Given the description of an element on the screen output the (x, y) to click on. 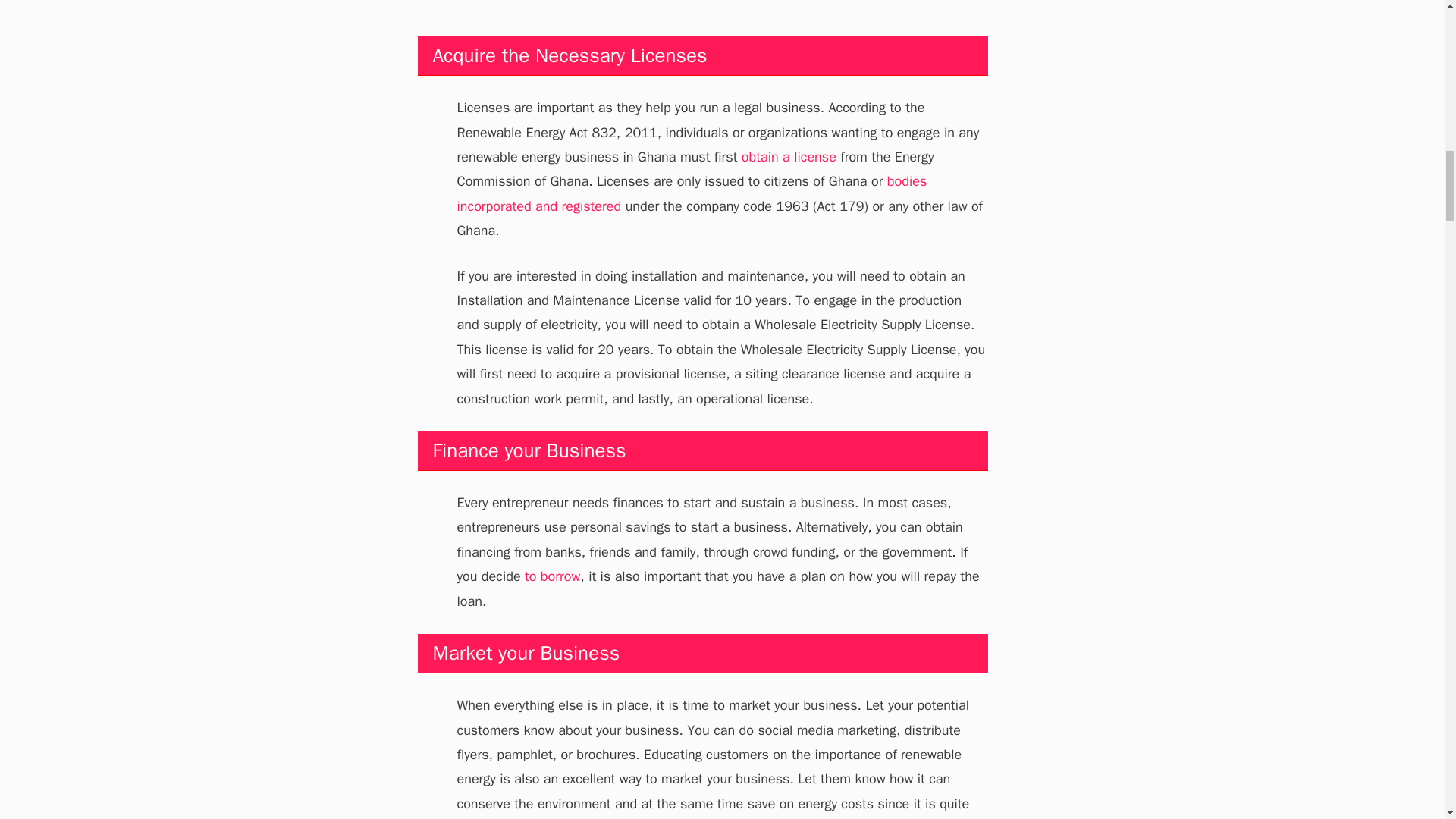
to borrow (551, 576)
bodies incorporated and registered (691, 192)
obtain a license (788, 156)
